Given the description of an element on the screen output the (x, y) to click on. 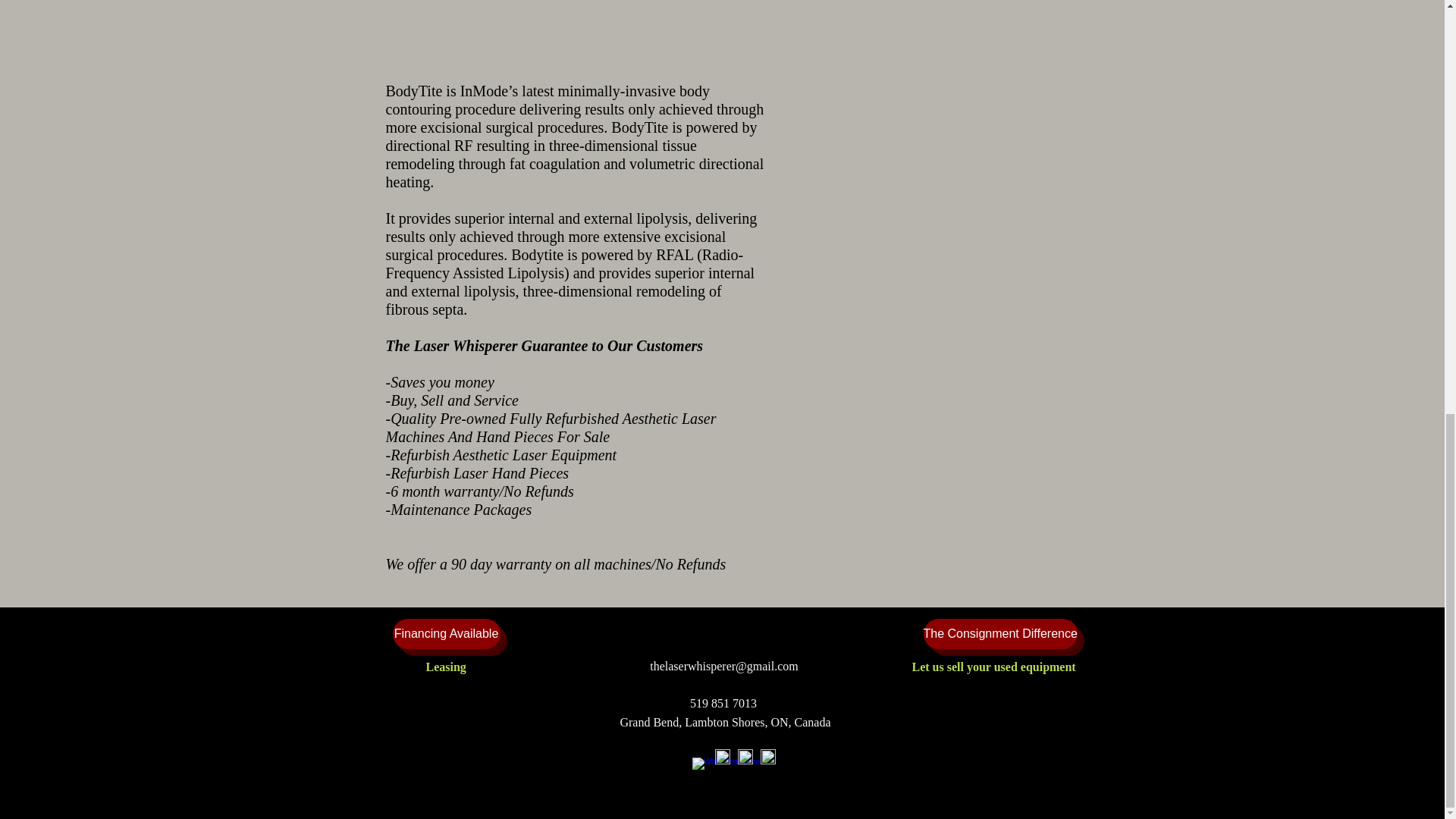
Financing Available (446, 634)
The Consignment Difference (1000, 634)
